Given the description of an element on the screen output the (x, y) to click on. 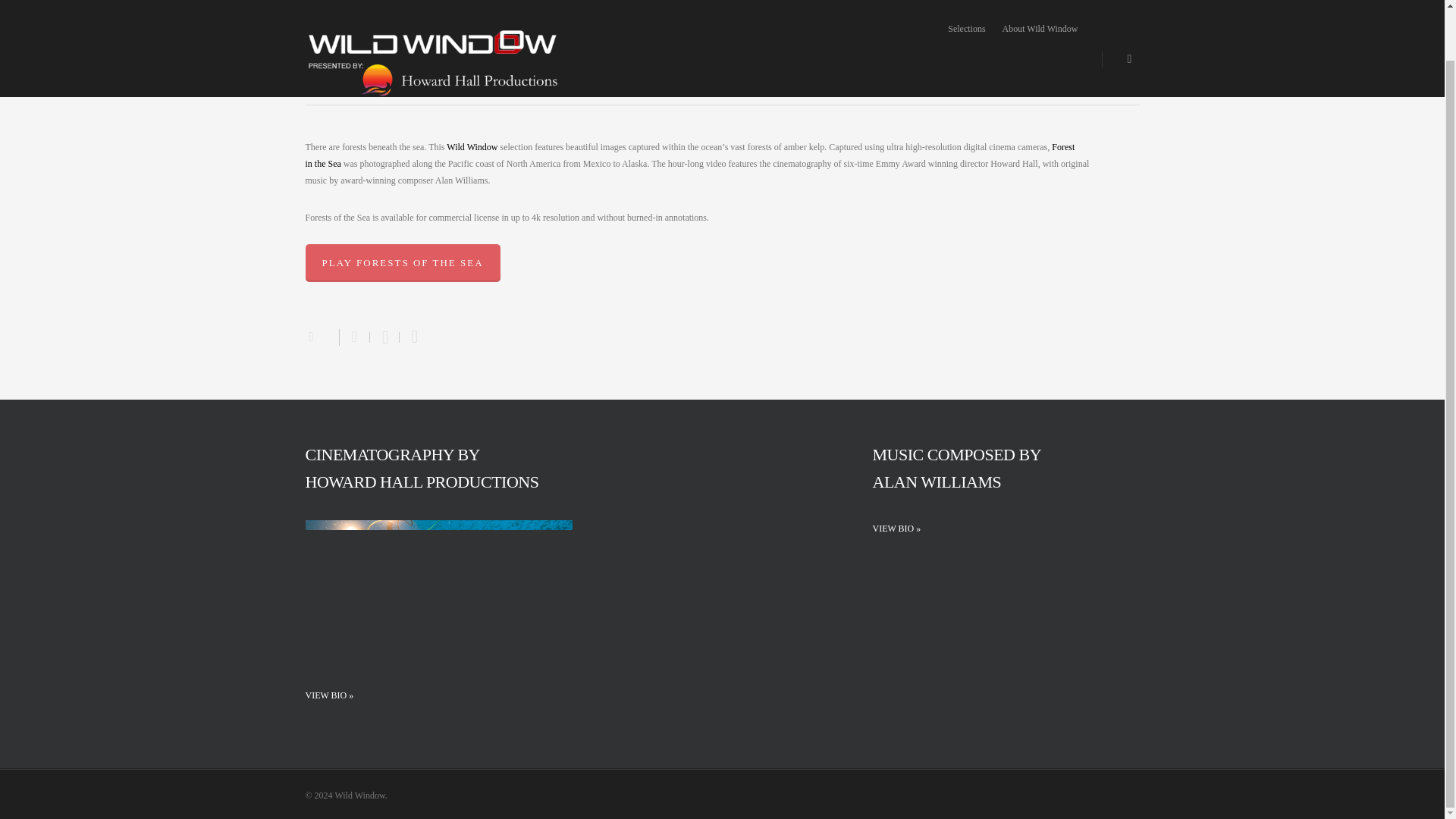
Tweet this (383, 337)
PLAY FORESTS OF THE SEA (401, 262)
Love this (320, 335)
Share this (354, 337)
Pin this (410, 337)
